Given the description of an element on the screen output the (x, y) to click on. 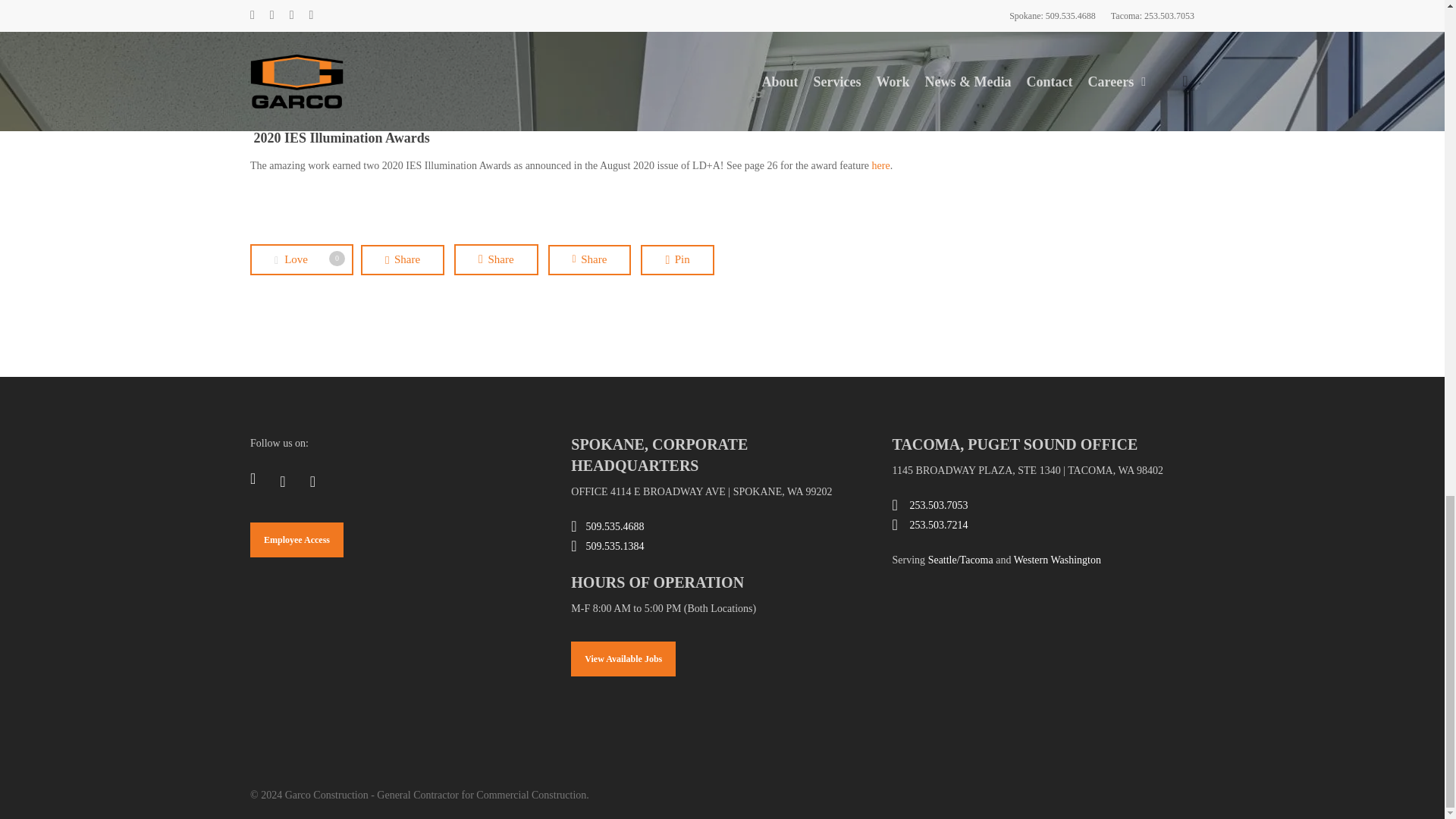
Share this (496, 259)
Share this (589, 259)
Pin this (676, 259)
Garco Construction - Building Excellence (935, 625)
Love this (301, 259)
Share this (402, 259)
